Given the description of an element on the screen output the (x, y) to click on. 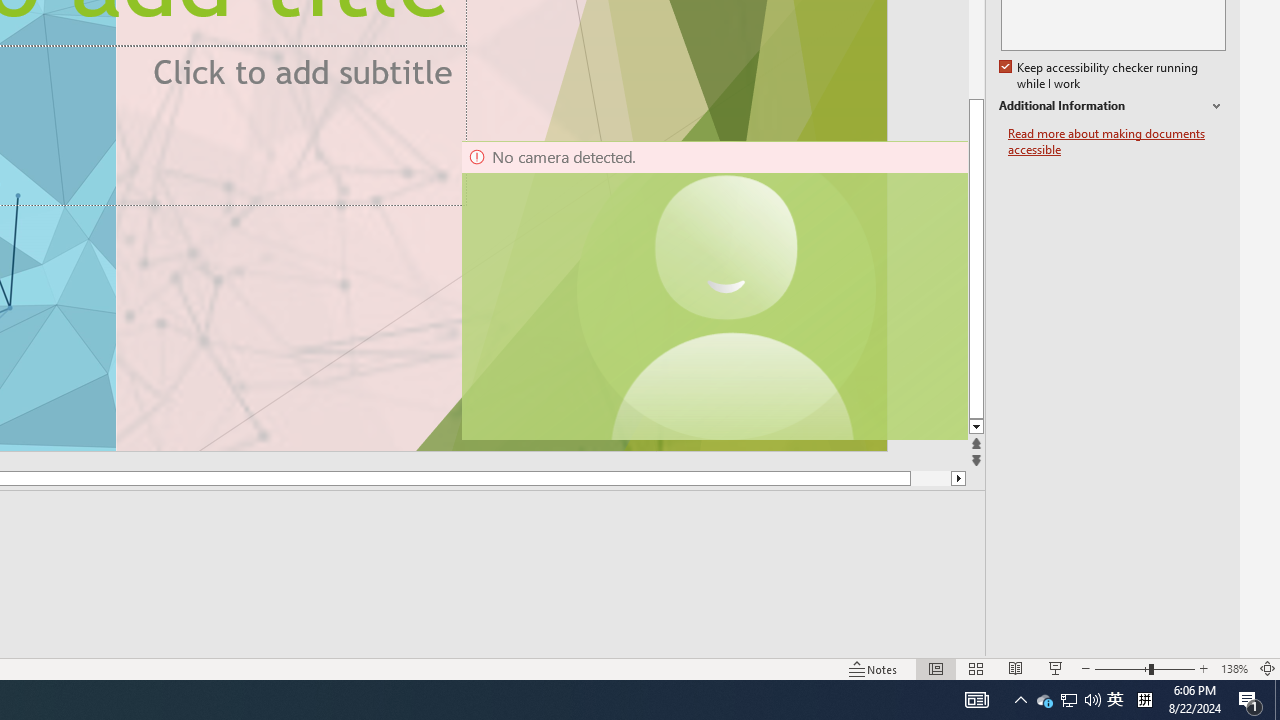
Zoom 138% (1234, 668)
